Given the description of an element on the screen output the (x, y) to click on. 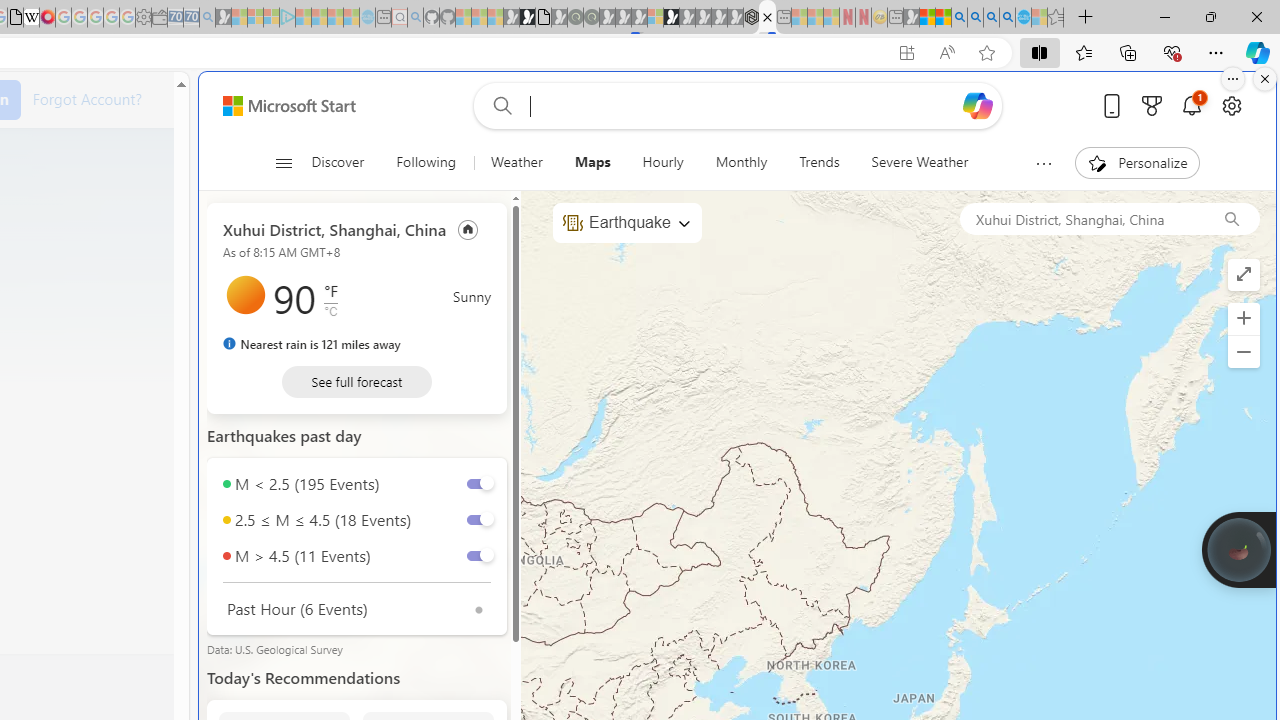
Weather (516, 162)
Copilot (Ctrl+Shift+.) (1258, 52)
Following (425, 162)
Monthly (740, 162)
Maps (591, 162)
Target page - Wikipedia (31, 17)
Bing AI - Search (959, 17)
Join us in planting real trees to help our planet! (1239, 548)
Join us in planting real trees to help our planet! (1239, 549)
Zoom out (1243, 351)
Discover (337, 162)
Monthly (741, 162)
